Given the description of an element on the screen output the (x, y) to click on. 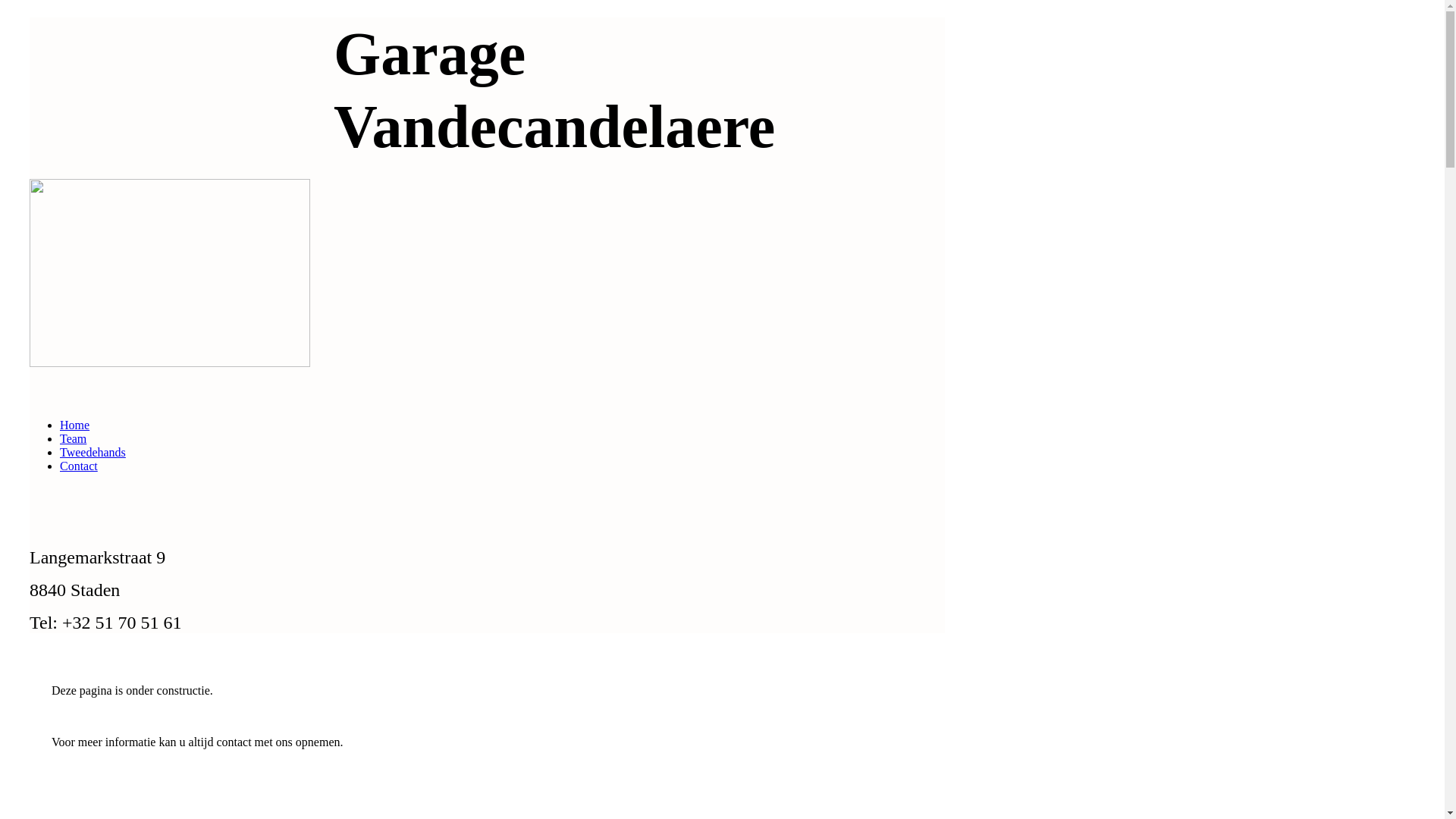
Tweedehands Element type: text (92, 451)
Team Element type: text (72, 438)
Home Element type: text (74, 424)
Contact Element type: text (78, 465)
